Given the description of an element on the screen output the (x, y) to click on. 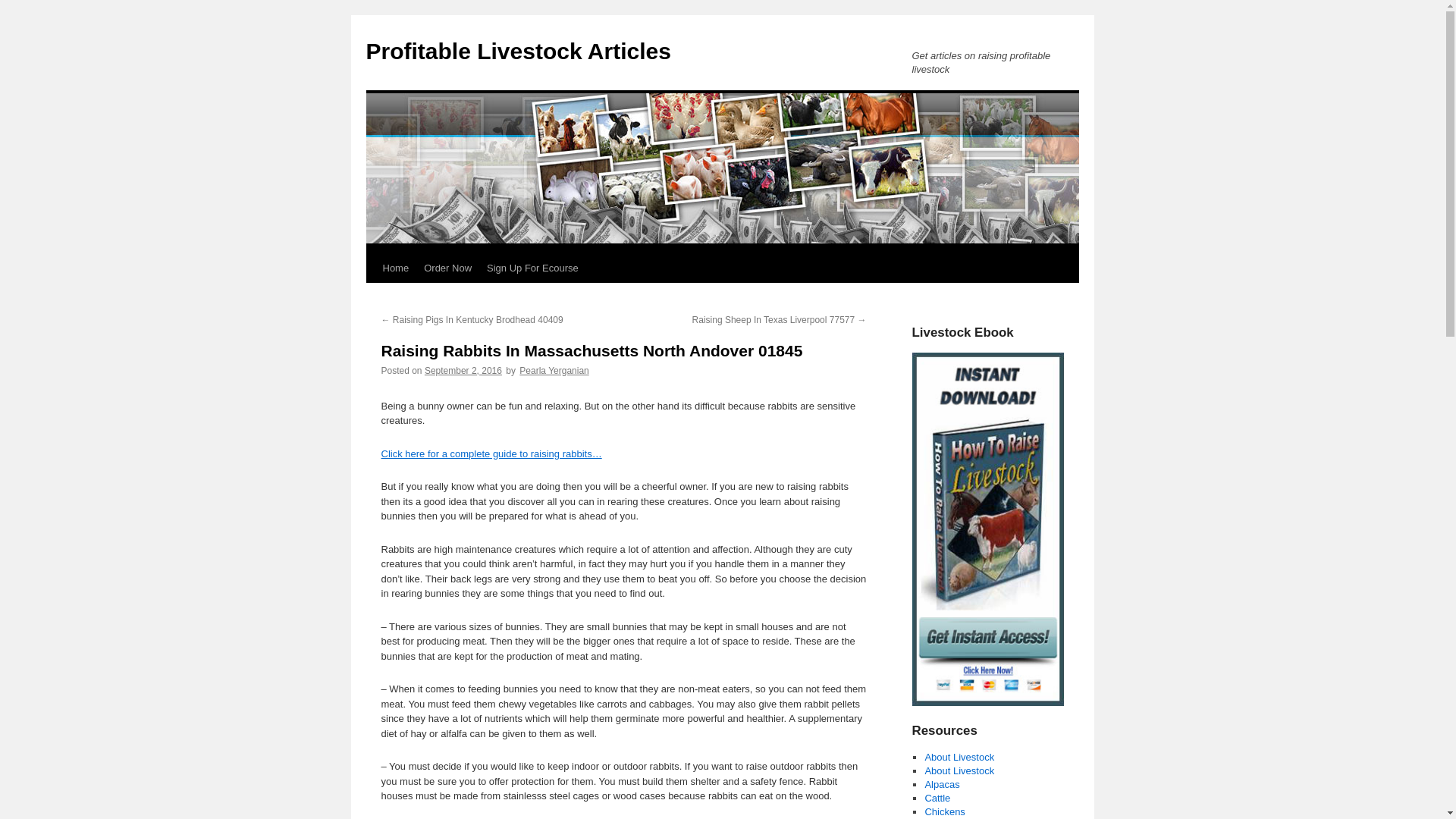
Home (395, 267)
View all posts by Pearla Yerganian (553, 370)
Alpacas (941, 784)
About Livestock (959, 770)
September 2, 2016 (463, 370)
Cattle (937, 797)
Pearla Yerganian (553, 370)
Profitable Livestock Articles (517, 50)
12:47 pm (463, 370)
Sign Up For Ecourse (532, 267)
Order Now (447, 267)
About Livestock (959, 756)
Profitable Livestock Articles (517, 50)
